Given the description of an element on the screen output the (x, y) to click on. 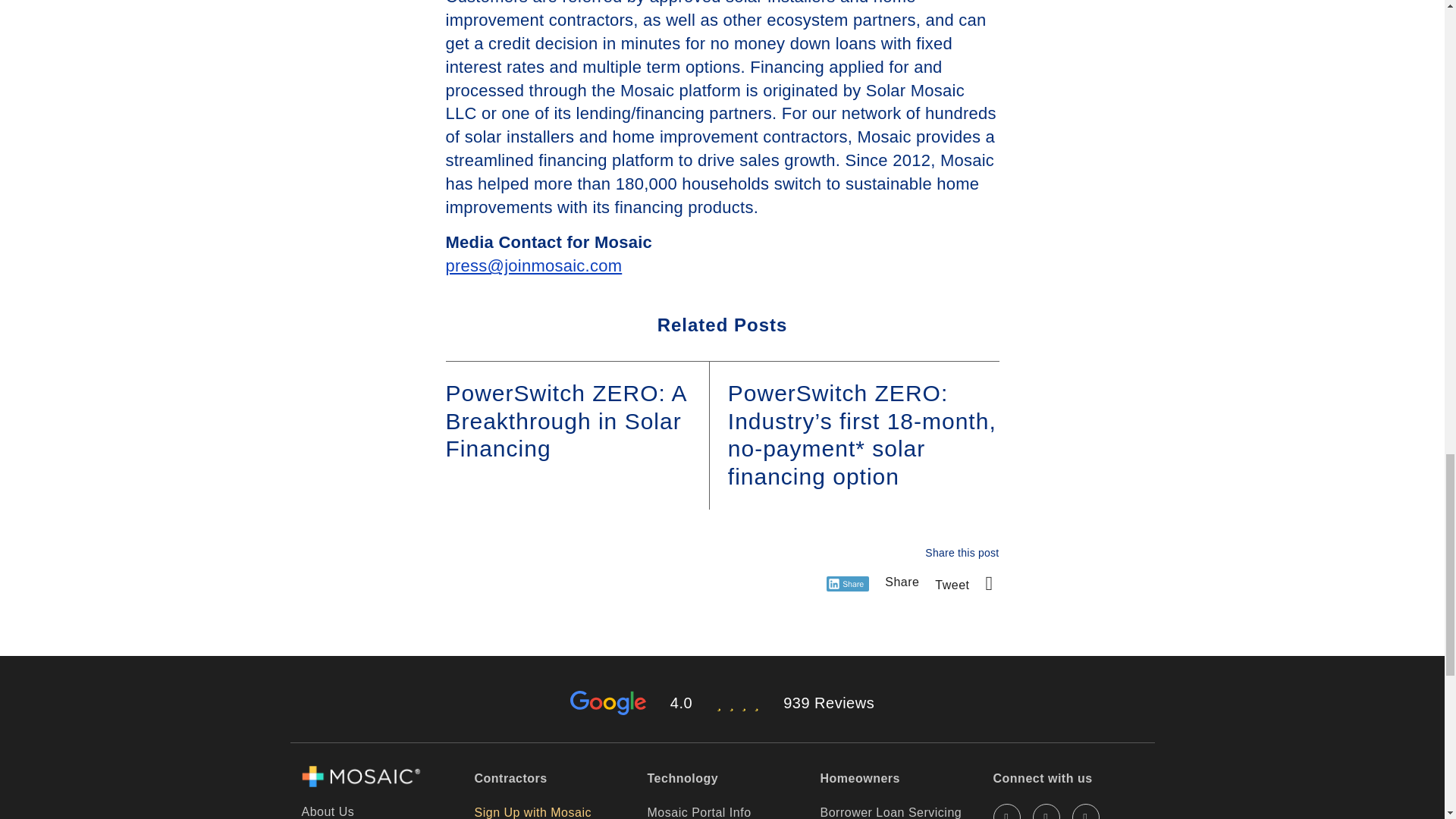
PowerSwitch ZERO: A Breakthrough in Solar Financing (565, 420)
Tweet (951, 584)
Share (901, 581)
Share (848, 583)
